Given the description of an element on the screen output the (x, y) to click on. 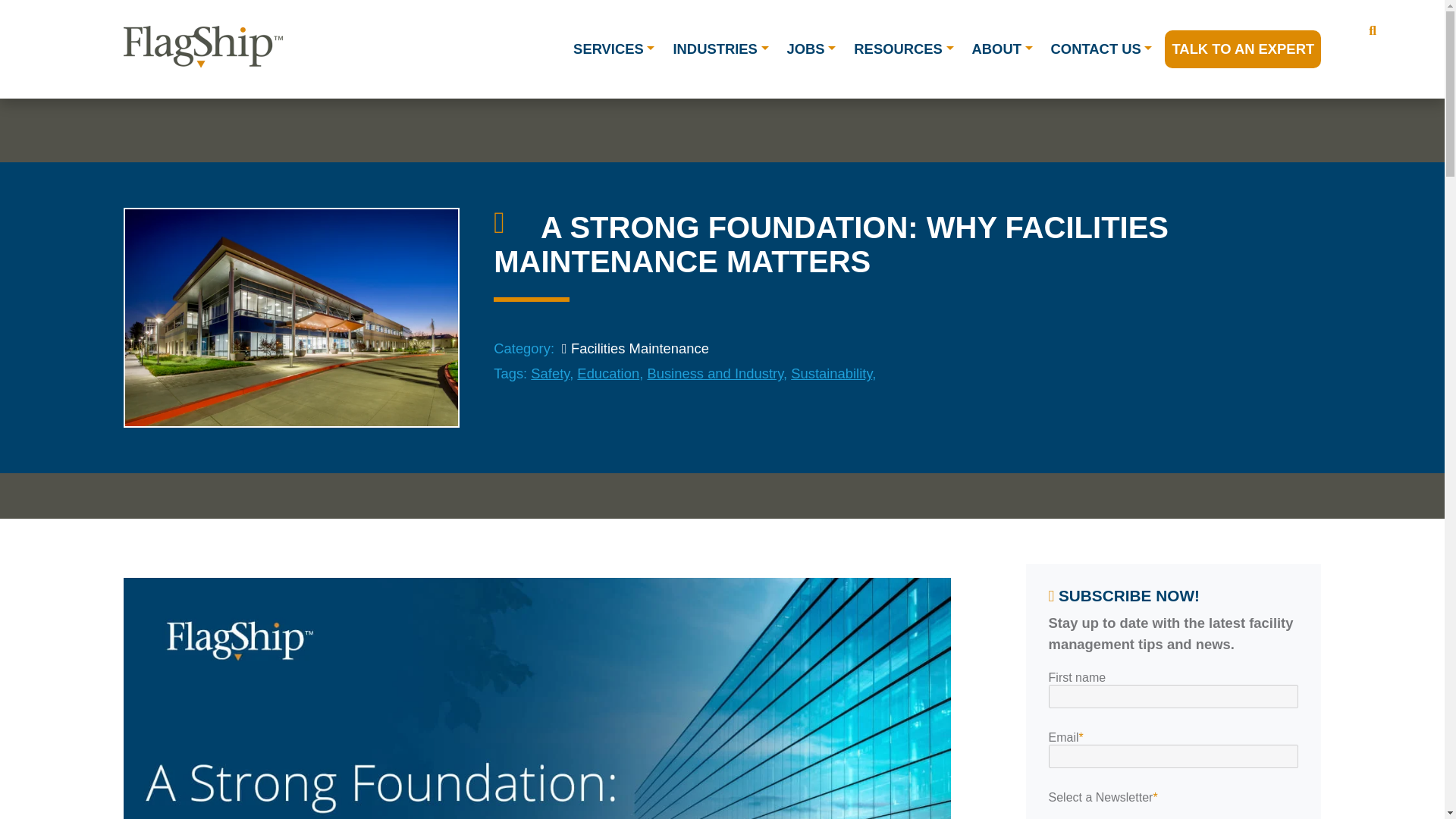
Education (607, 373)
INDUSTRIES (719, 48)
CONTACT US (1101, 48)
Sustainability (831, 373)
JOBS (811, 48)
Business and Industry (714, 373)
Facilities Maintenance (633, 348)
RESOURCES (903, 48)
Inside FM Blog (512, 227)
